Given the description of an element on the screen output the (x, y) to click on. 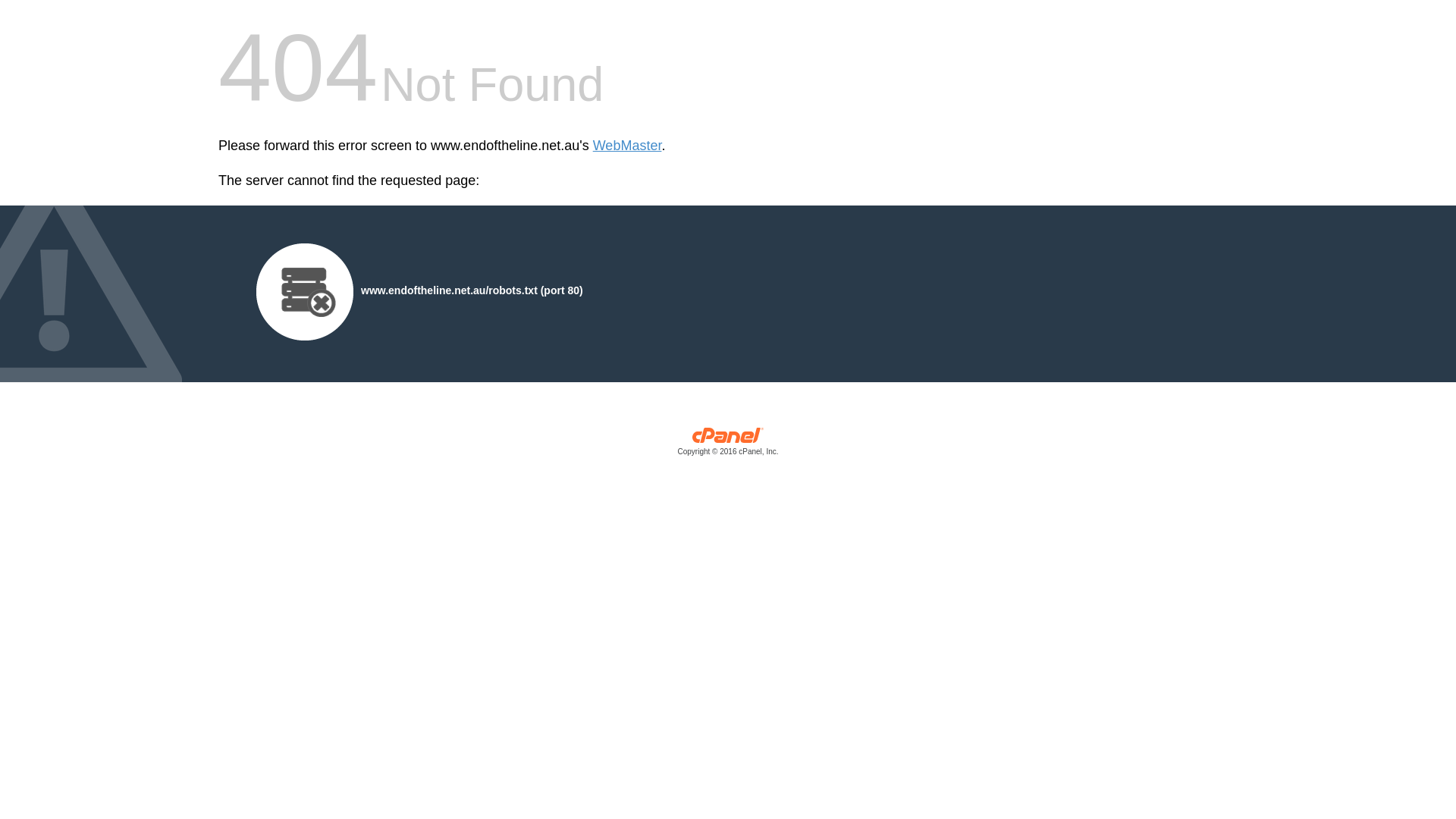
WebMaster Element type: text (627, 145)
